Given the description of an element on the screen output the (x, y) to click on. 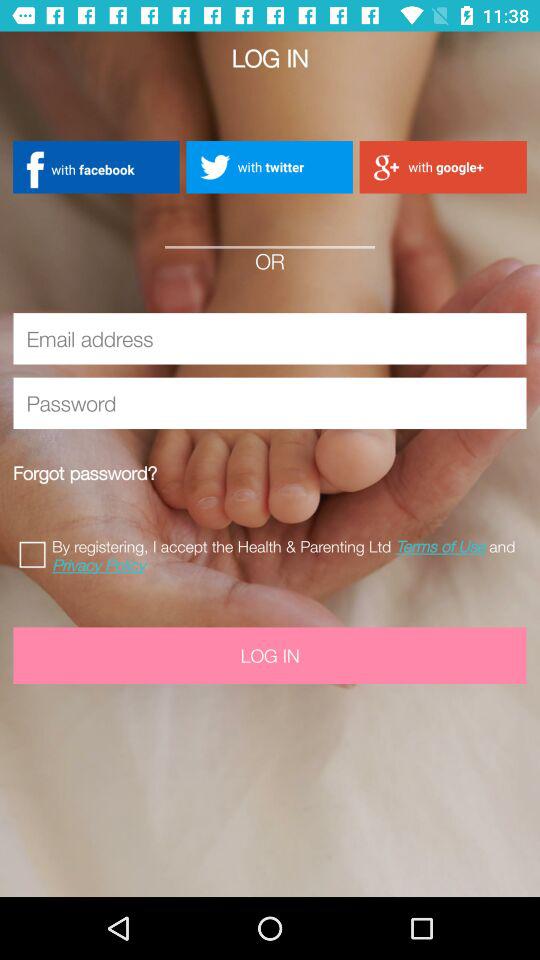
check to accept terms (36, 552)
